Given the description of an element on the screen output the (x, y) to click on. 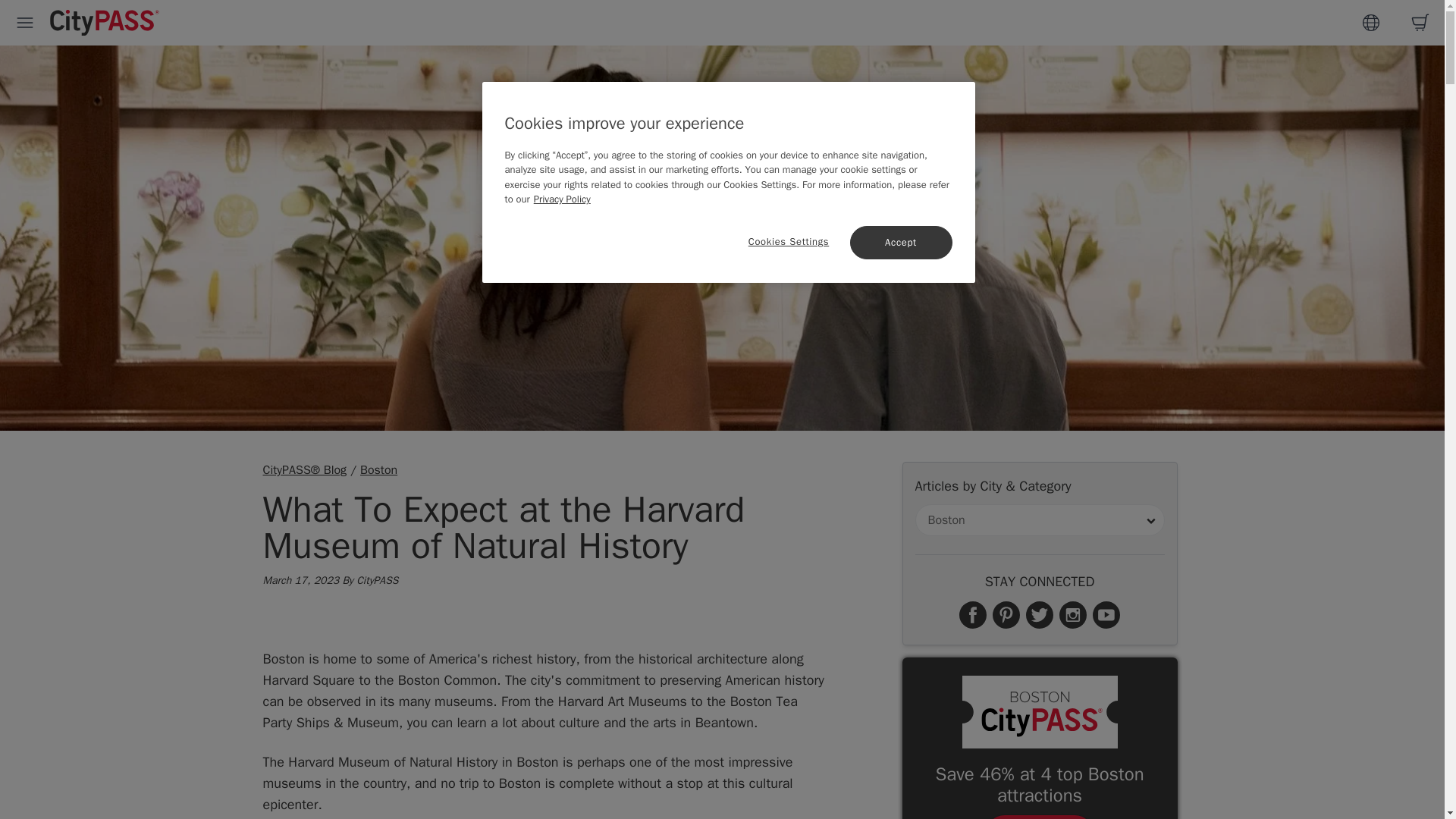
youtube (1105, 614)
Buy Now (1039, 816)
instagram (1073, 614)
facebook (973, 614)
CityPASS (104, 23)
Boston (378, 469)
Guide (1370, 22)
Buy Now (1039, 816)
shopping-cart-1s (1419, 22)
twitter (1040, 614)
Boston CityPASS (1039, 711)
pinterest (1006, 614)
Menu (25, 22)
